Given the description of an element on the screen output the (x, y) to click on. 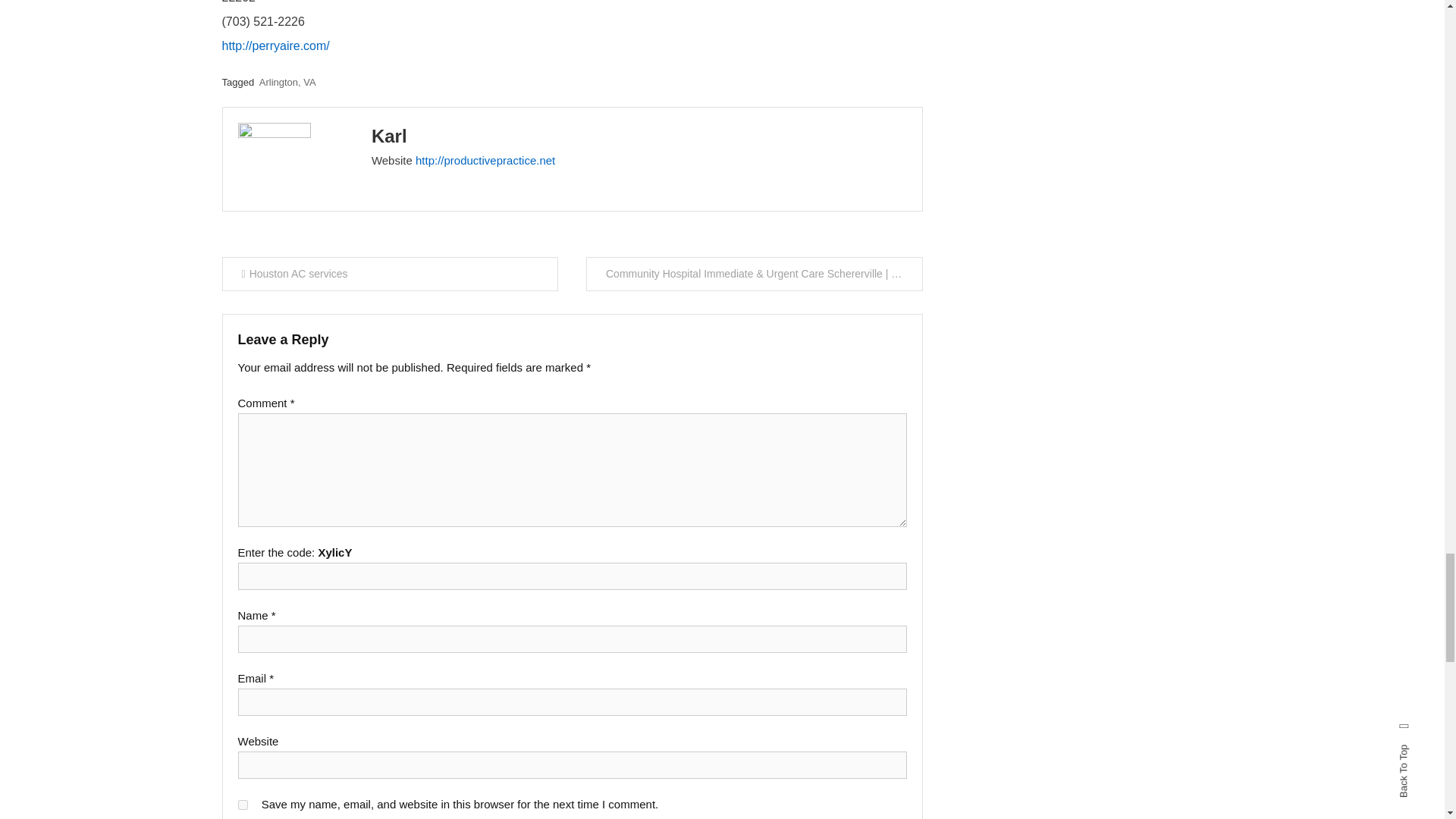
yes (242, 804)
Posts by Karl (389, 136)
